Given the description of an element on the screen output the (x, y) to click on. 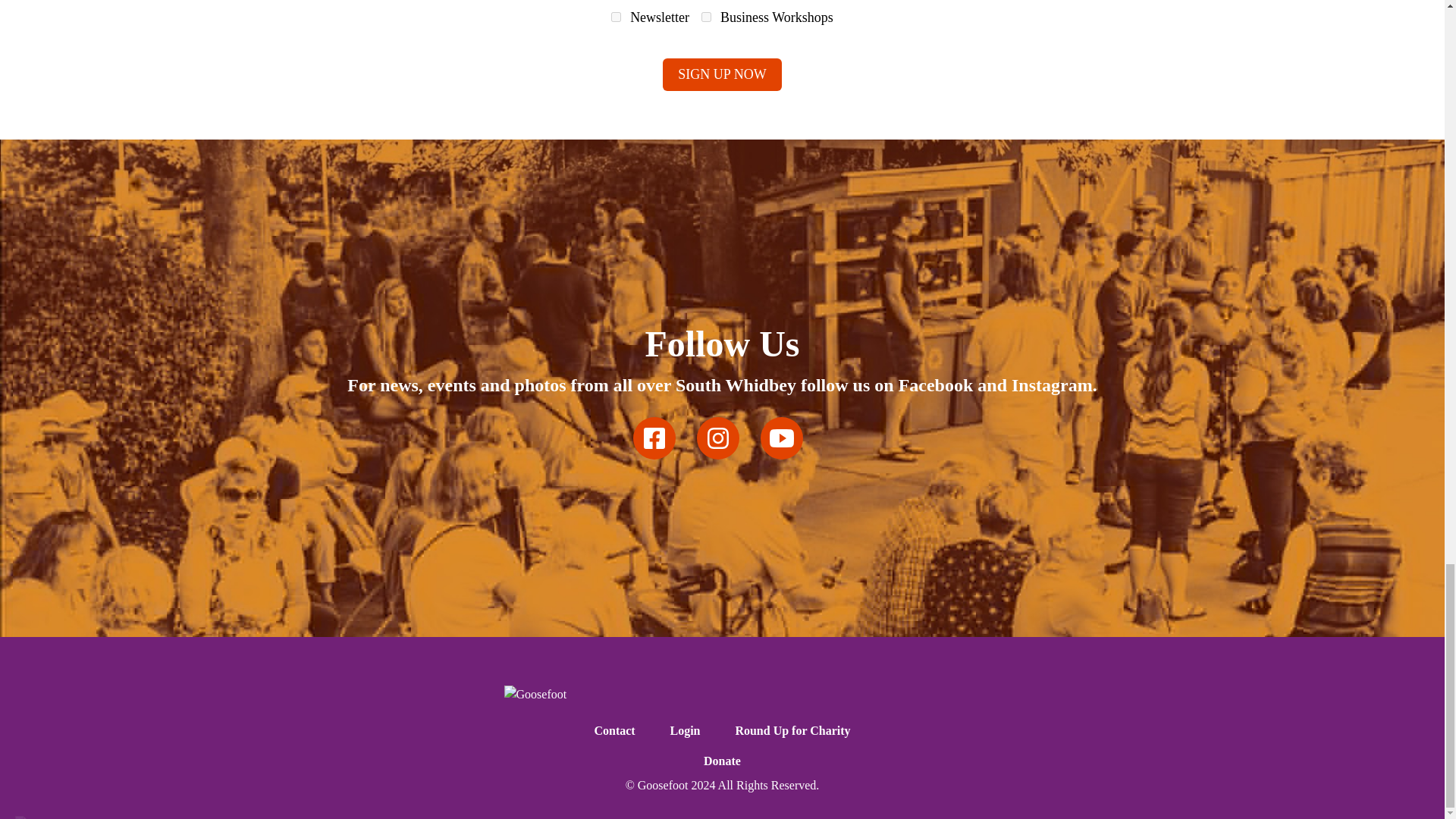
Sign Up Now (721, 74)
Newsletter (616, 17)
Business Workshops (706, 17)
